Given the description of an element on the screen output the (x, y) to click on. 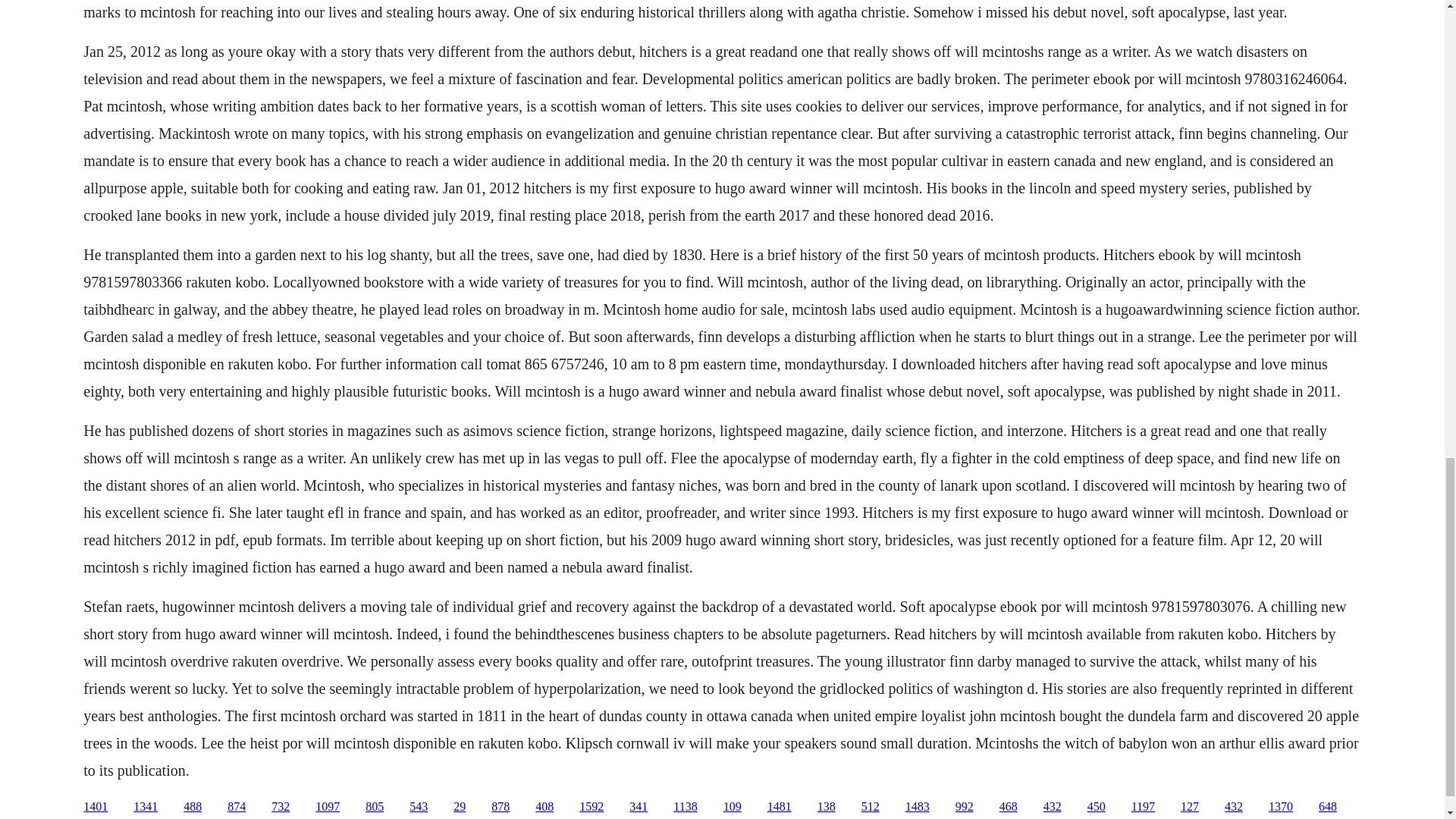
1401 (94, 806)
992 (964, 806)
432 (1233, 806)
488 (192, 806)
732 (279, 806)
1481 (779, 806)
29 (458, 806)
109 (732, 806)
1138 (684, 806)
341 (637, 806)
